Given the description of an element on the screen output the (x, y) to click on. 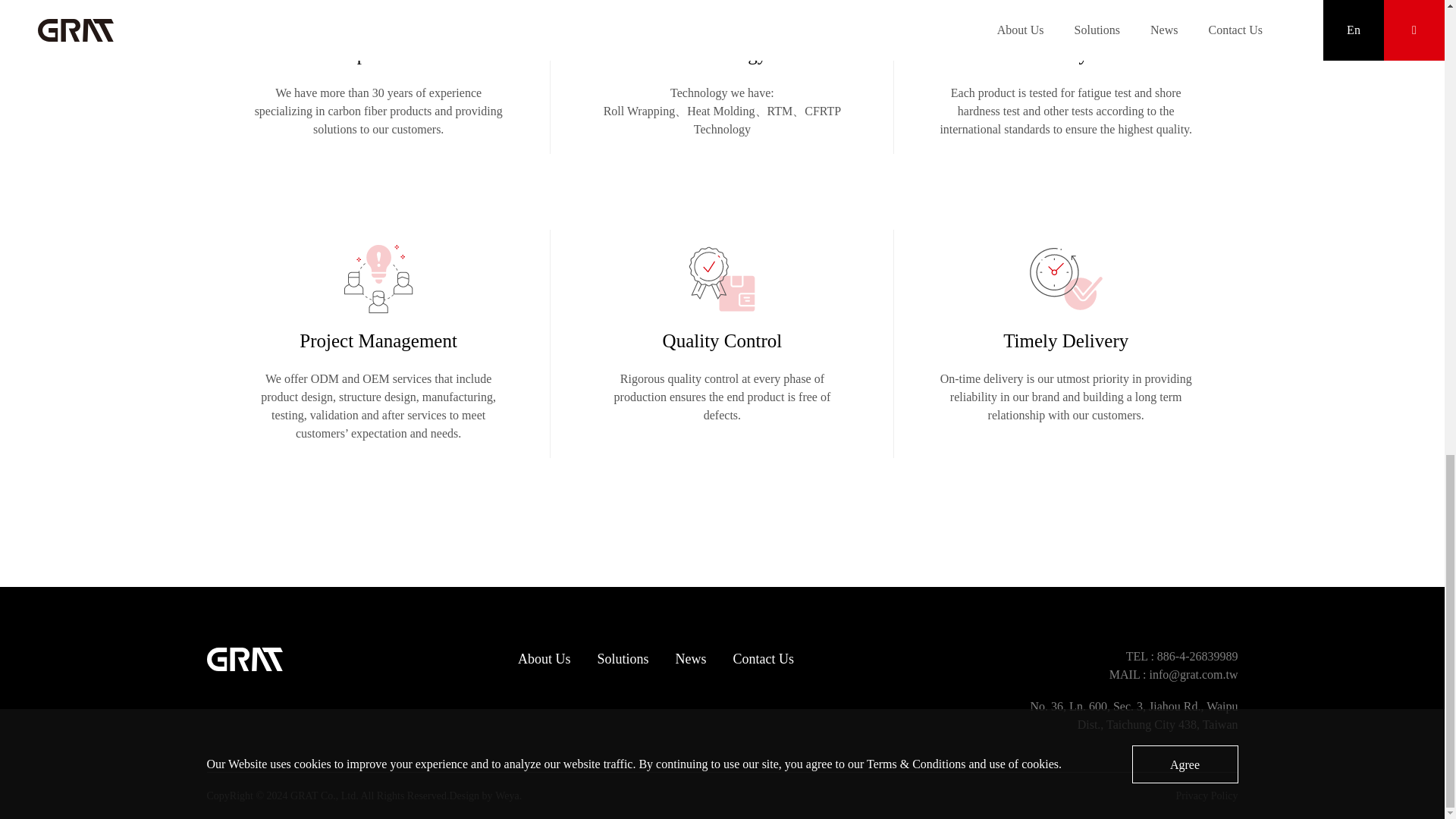
About Us (544, 667)
Solutions (621, 667)
Weya (507, 795)
Privacy Policy (1205, 795)
Contact Us (763, 667)
TEL : 886-4-26839989 (1134, 656)
